Given the description of an element on the screen output the (x, y) to click on. 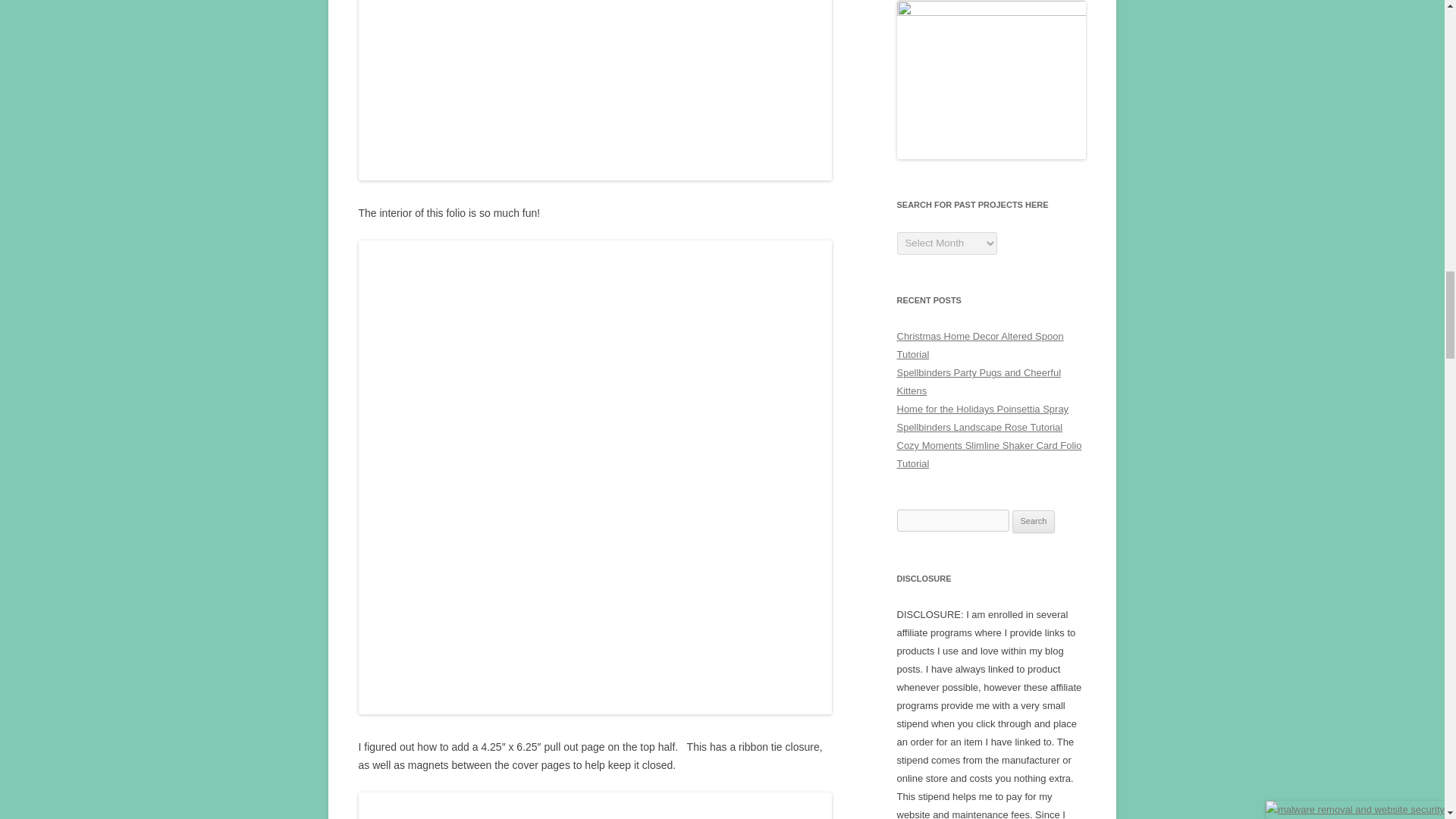
Search (1033, 521)
